Given the description of an element on the screen output the (x, y) to click on. 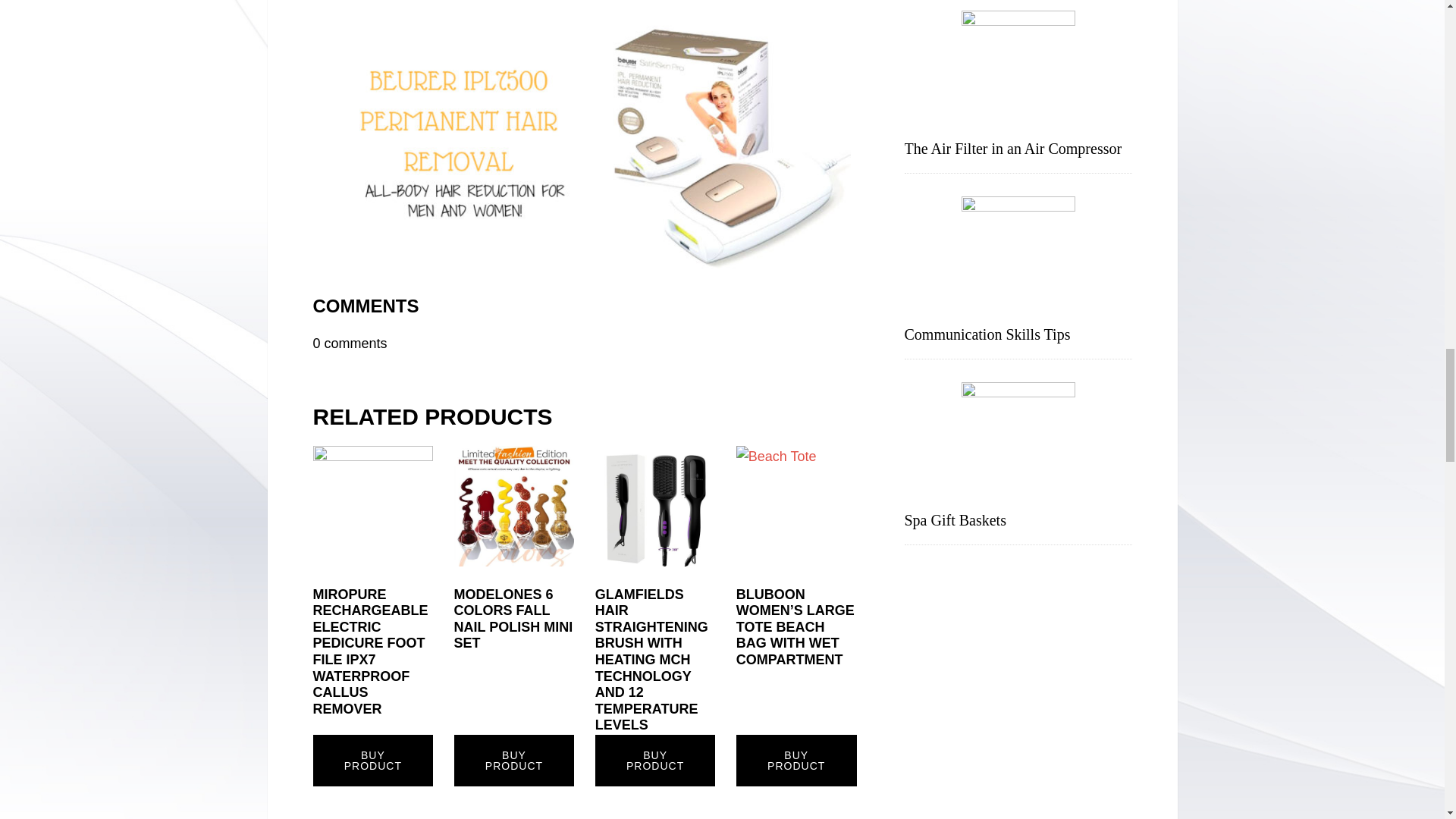
BUY PRODUCT (796, 760)
The Air Filter in an Air Compressor (1012, 148)
Communication Skills Tips (987, 334)
BUY PRODUCT (514, 760)
BUY PRODUCT (655, 760)
Spa Gift Baskets (955, 519)
BUY PRODUCT (372, 760)
